Given the description of an element on the screen output the (x, y) to click on. 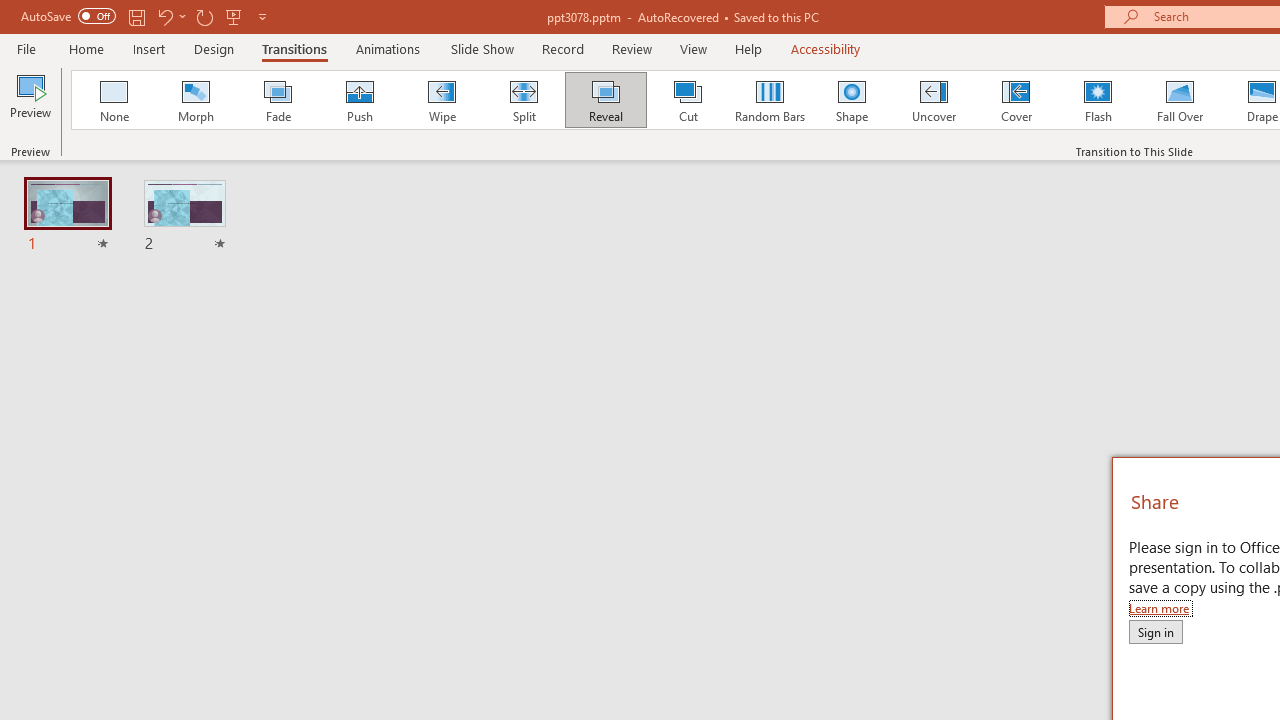
Fade (277, 100)
Cover (1016, 100)
Shape (852, 100)
